Given the description of an element on the screen output the (x, y) to click on. 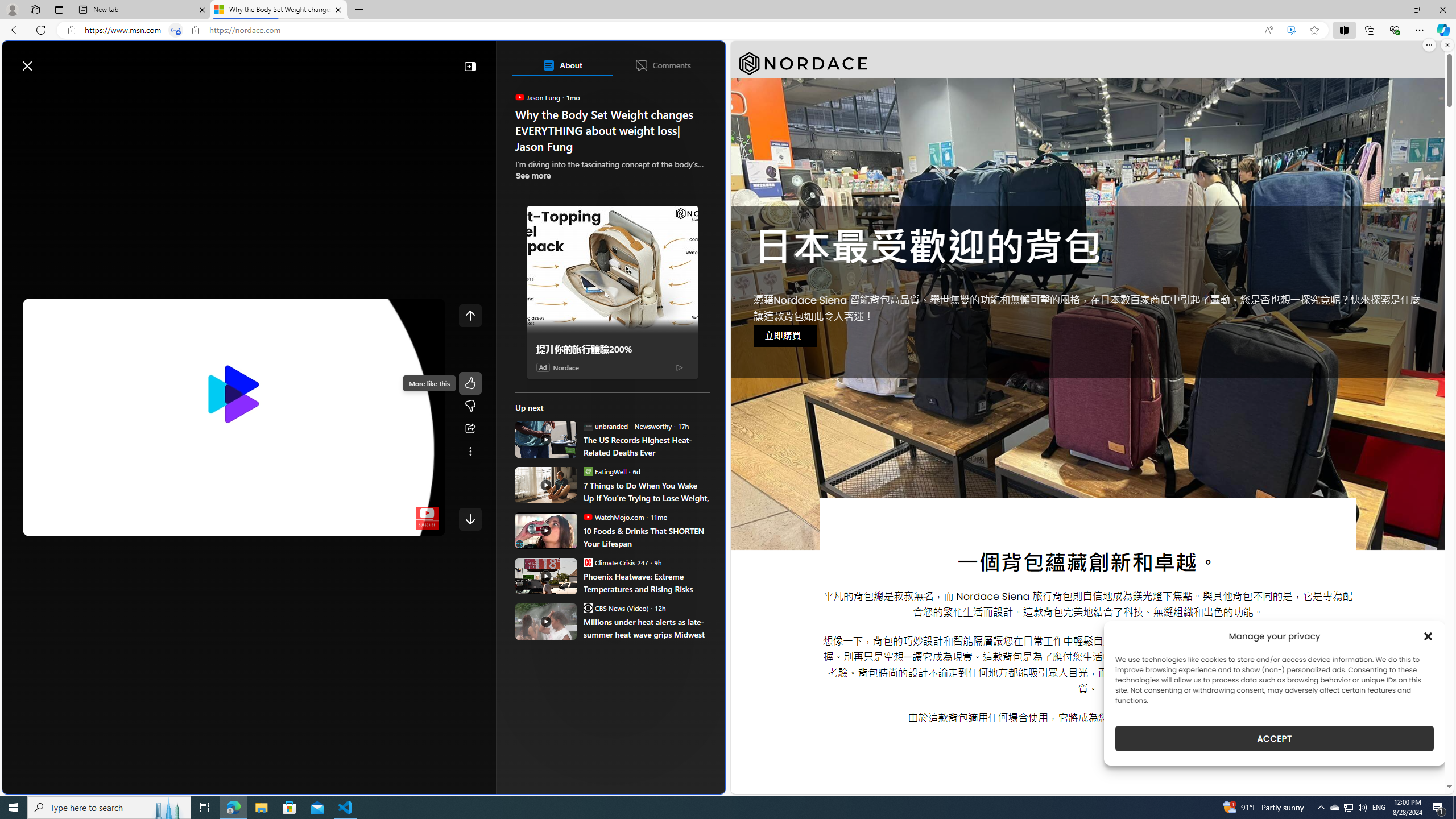
Climate Crisis 247 (587, 561)
Jason Fung (519, 96)
More options. (1428, 45)
Channel watermark (427, 517)
Ad Choice (678, 367)
Share this story (469, 428)
Browser essentials (1394, 29)
Subtitles/closed captions unavailable (343, 525)
Like (469, 382)
Ad (542, 366)
Enter your search term (366, 59)
